Given the description of an element on the screen output the (x, y) to click on. 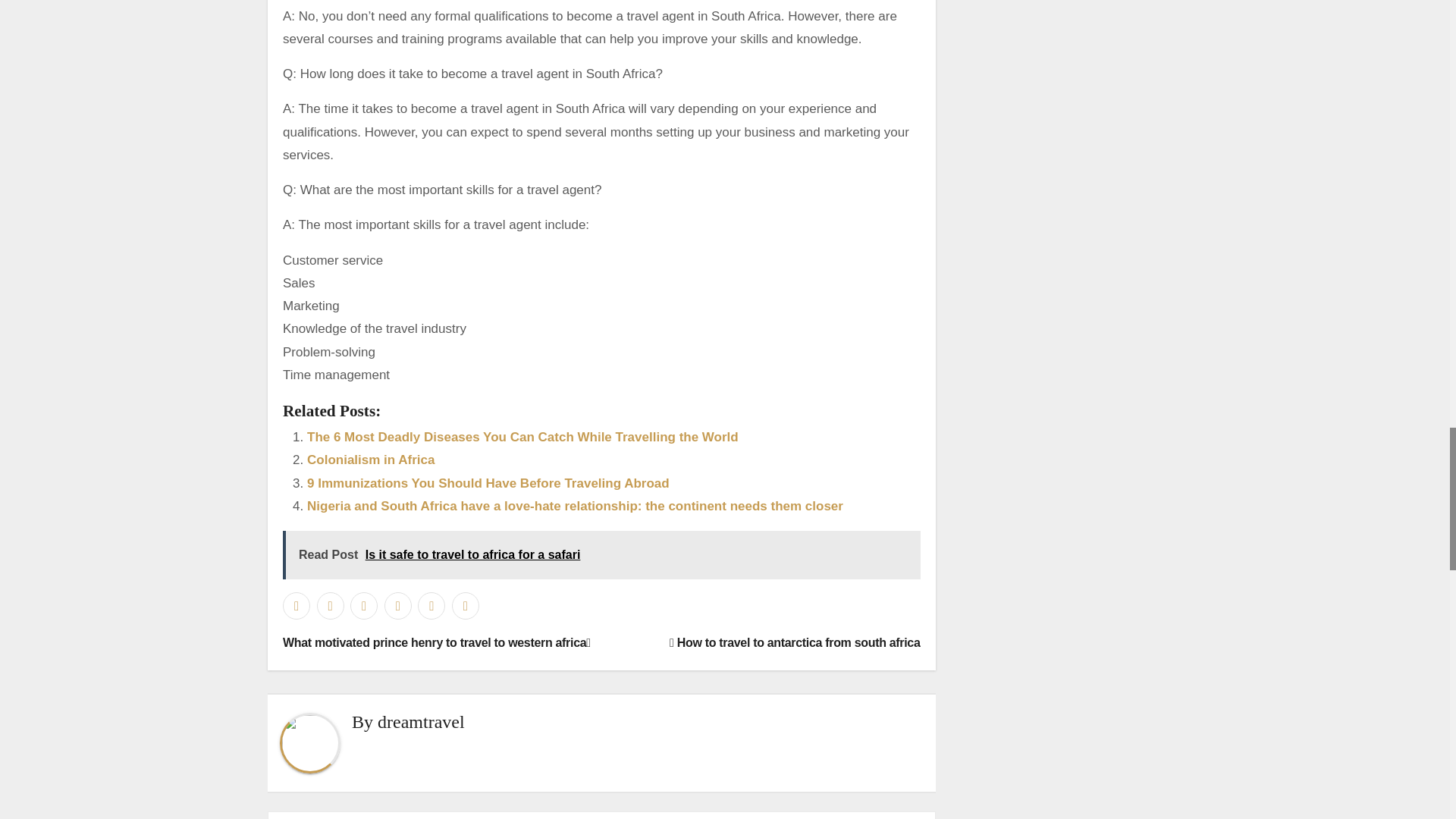
Colonialism in Africa (370, 459)
9 Immunizations You Should Have Before Traveling Abroad (488, 482)
Read Post  Is it safe to travel to africa for a safari (601, 554)
What motivated prince henry to travel to western africa (436, 642)
How to travel to antarctica from south africa (794, 642)
